Given the description of an element on the screen output the (x, y) to click on. 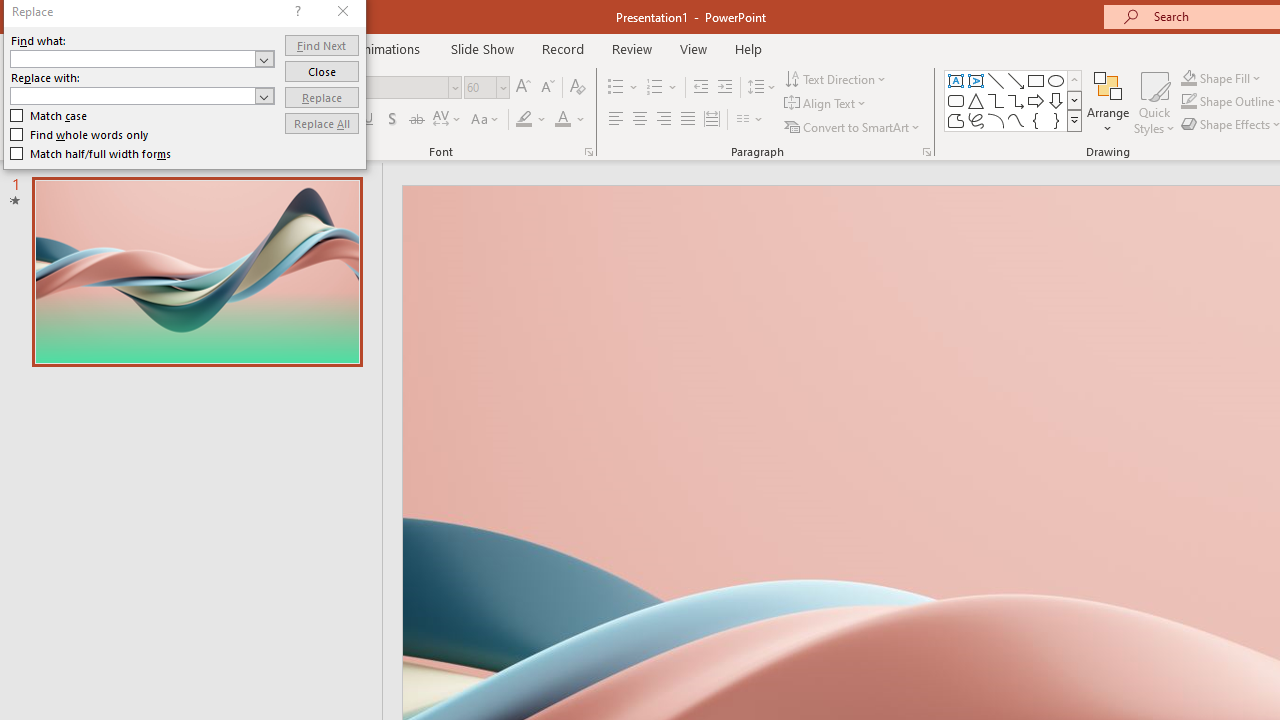
Replace with (142, 96)
Match case (49, 115)
Replace All (321, 123)
